Given the description of an element on the screen output the (x, y) to click on. 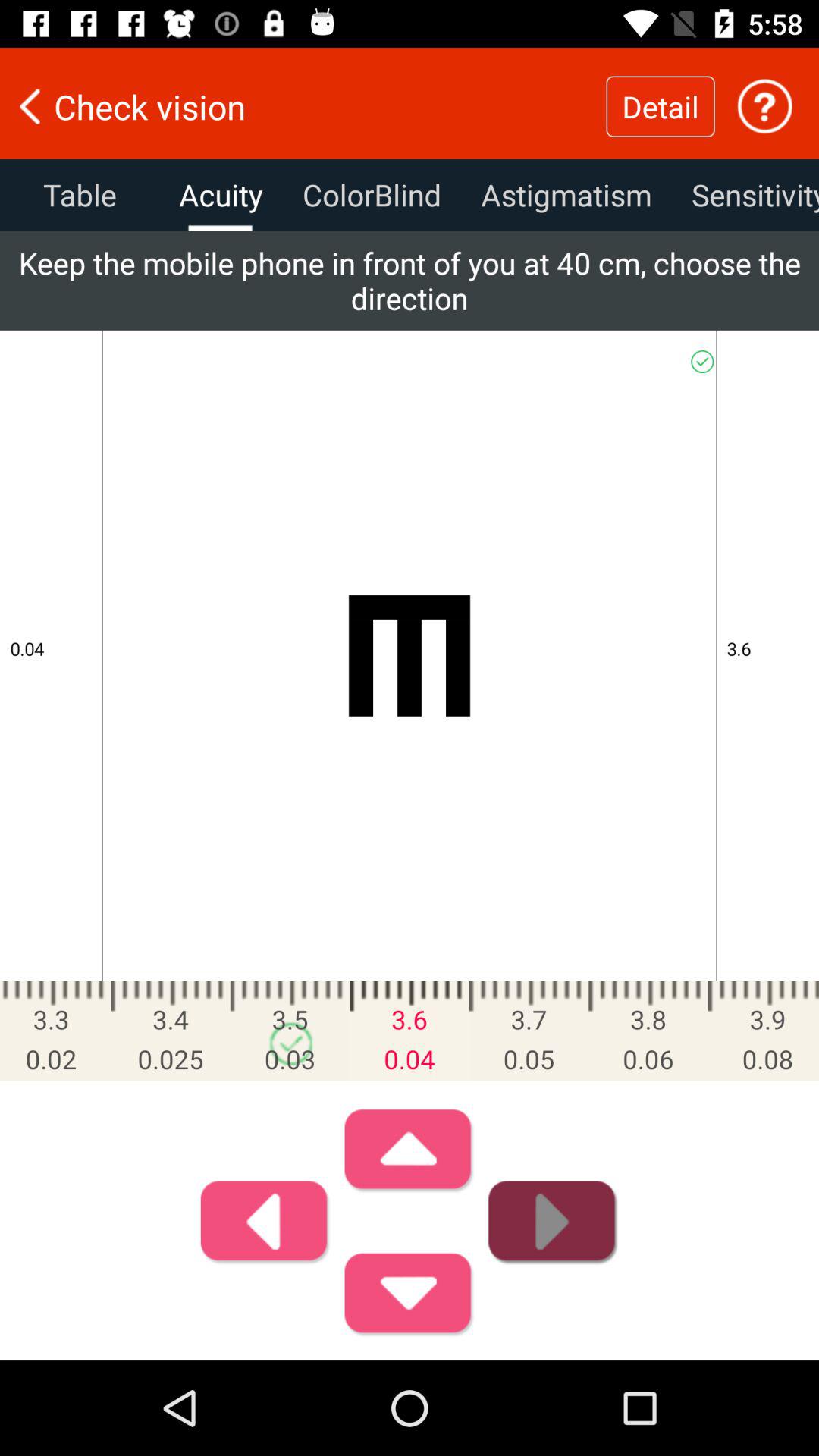
open help (764, 106)
